Given the description of an element on the screen output the (x, y) to click on. 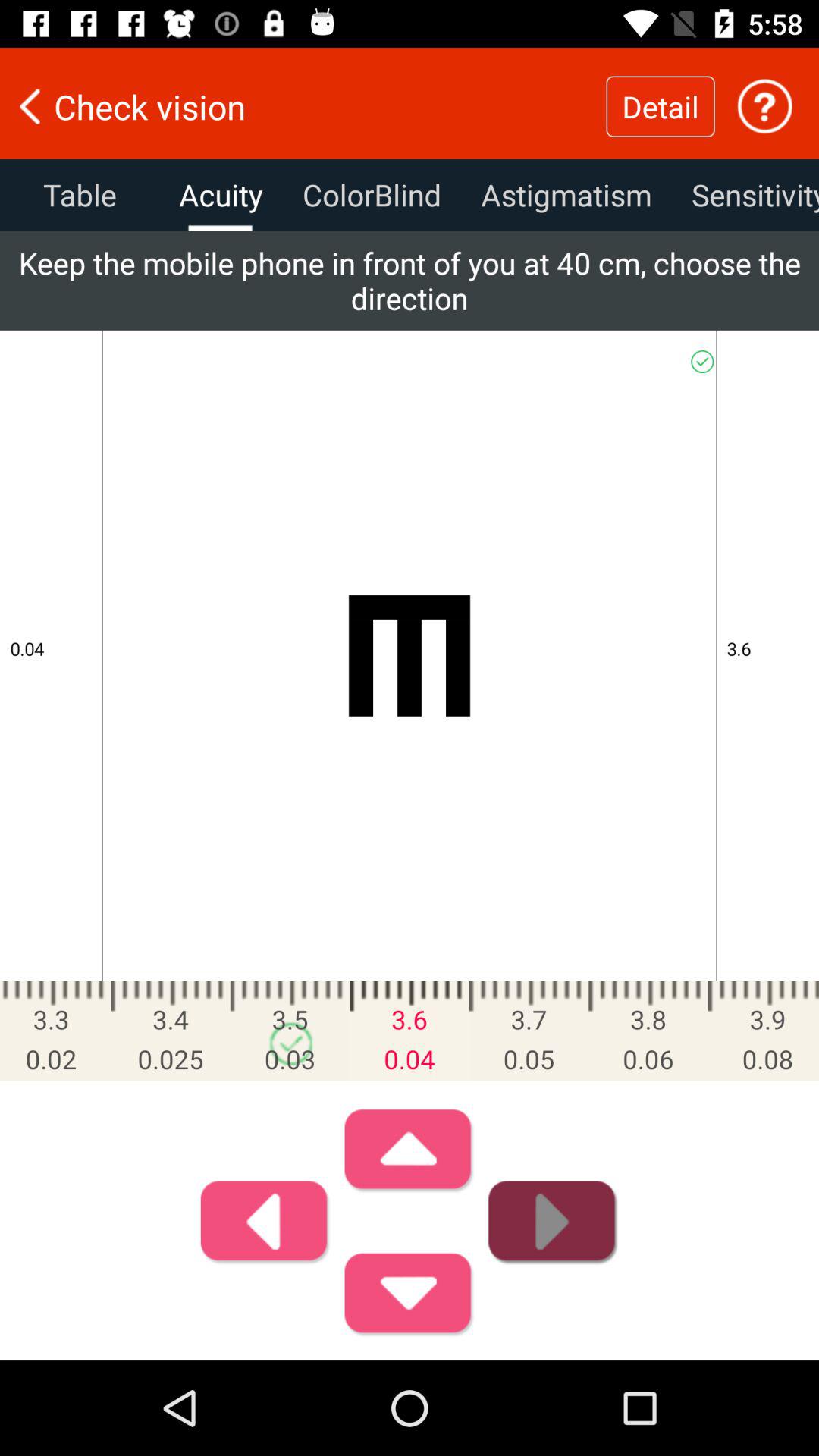
open help (764, 106)
